Given the description of an element on the screen output the (x, y) to click on. 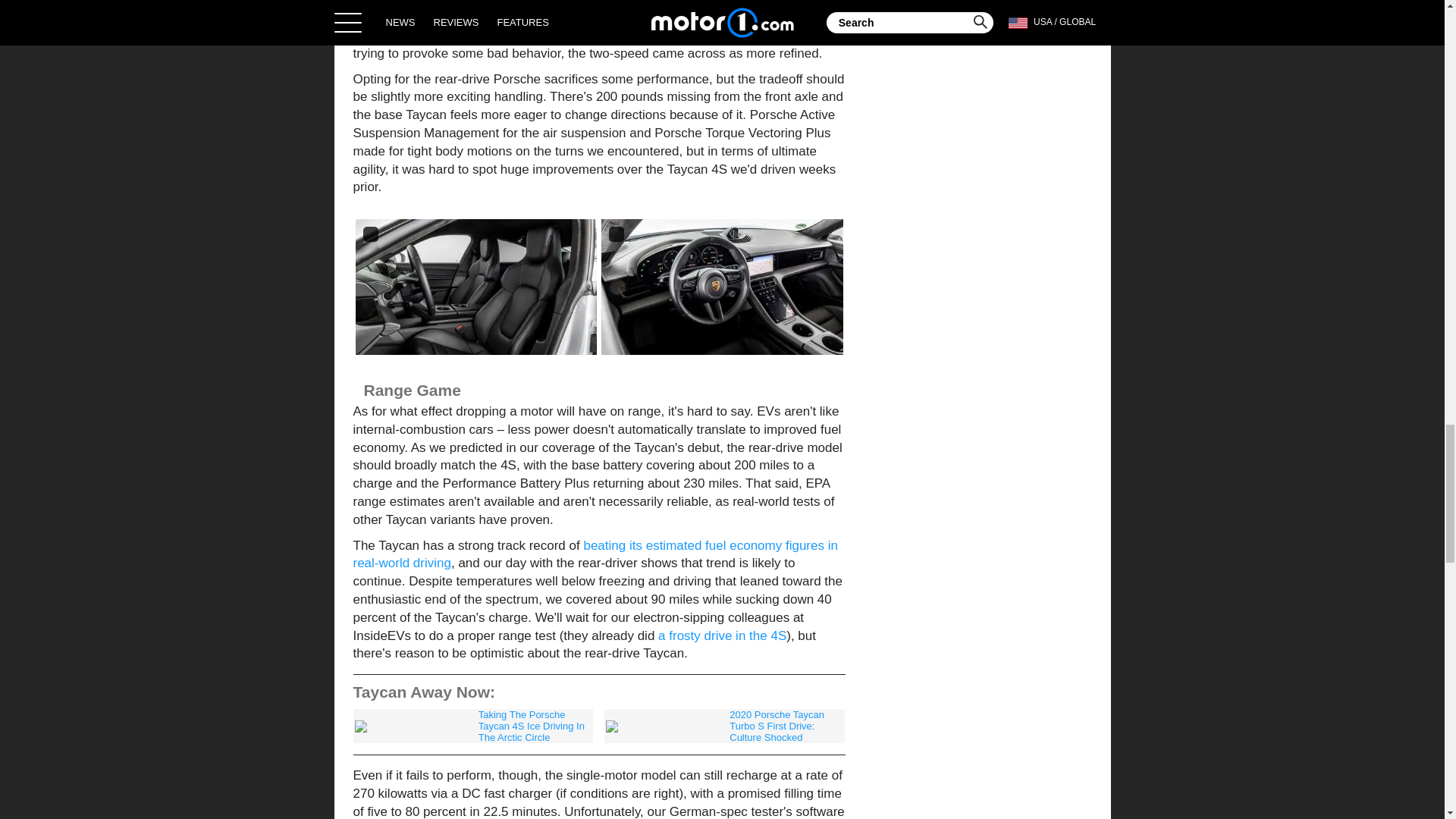
a frosty drive in the 4S (722, 635)
2020 Porsche Taycan Turbo S First Drive: Culture Shocked (724, 725)
